Given the description of an element on the screen output the (x, y) to click on. 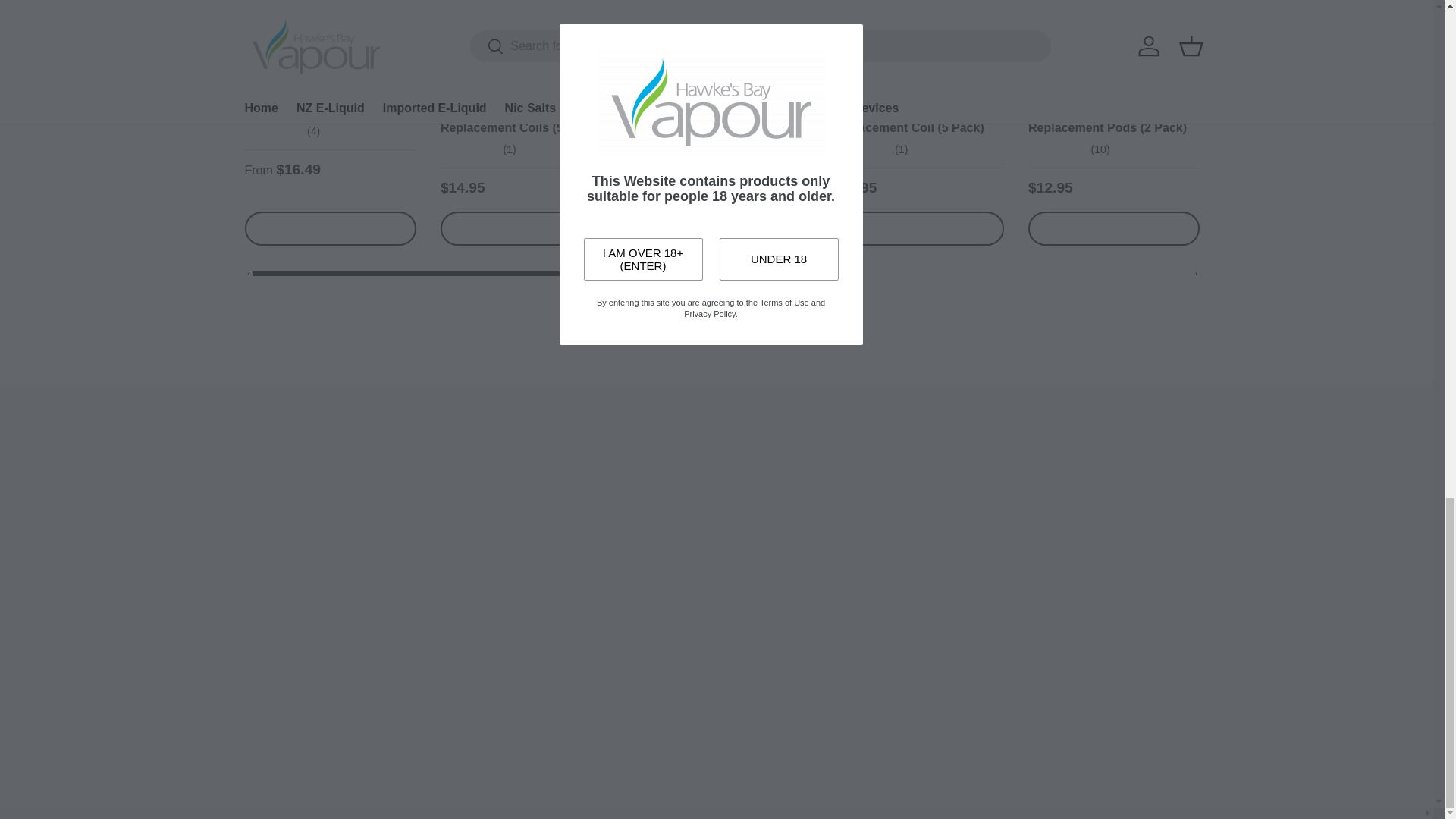
Choose options (329, 228)
